Given the description of an element on the screen output the (x, y) to click on. 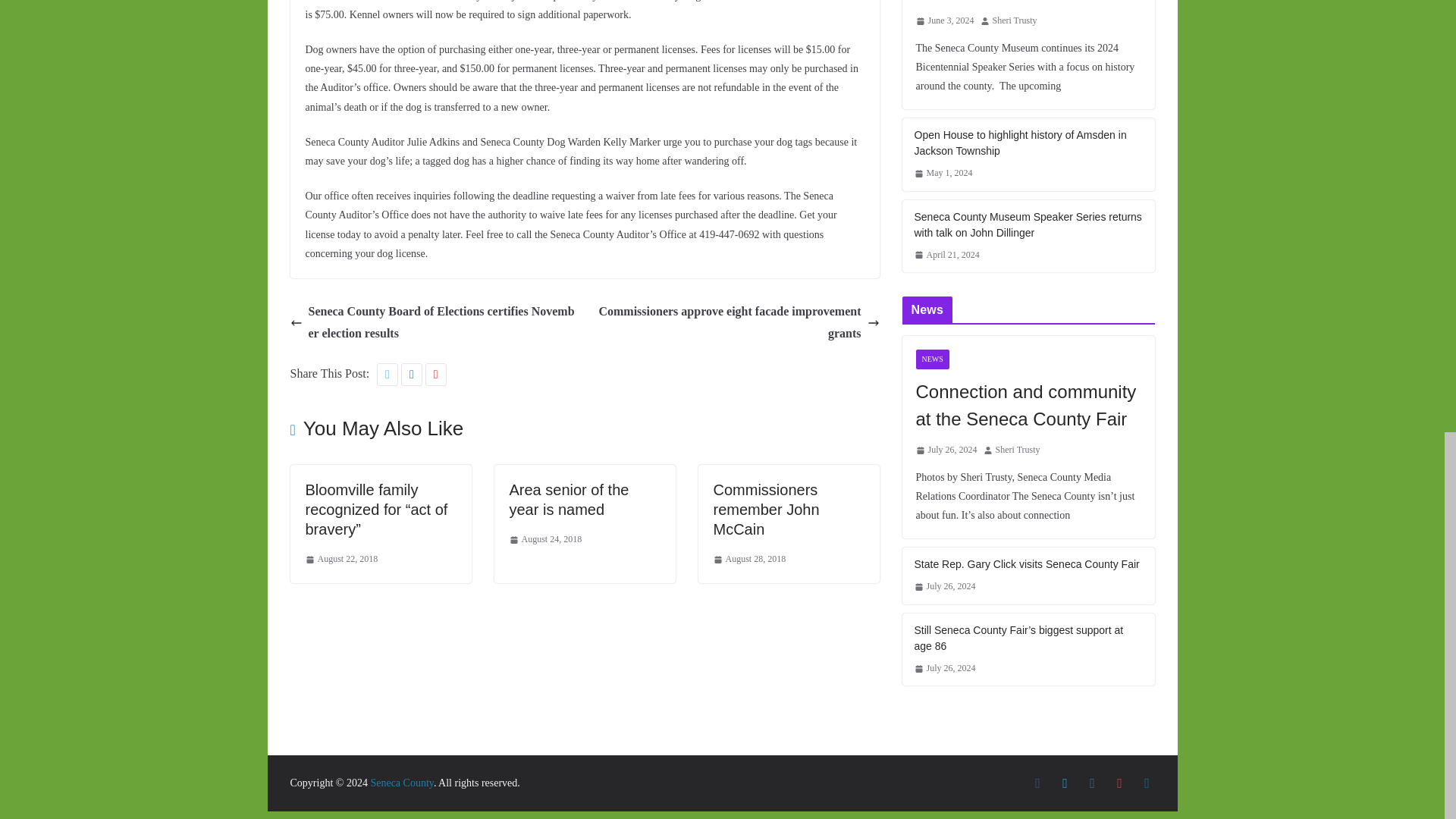
3:46 pm (340, 559)
Area senior of the year is named (568, 499)
4:06 pm (545, 539)
